Given the description of an element on the screen output the (x, y) to click on. 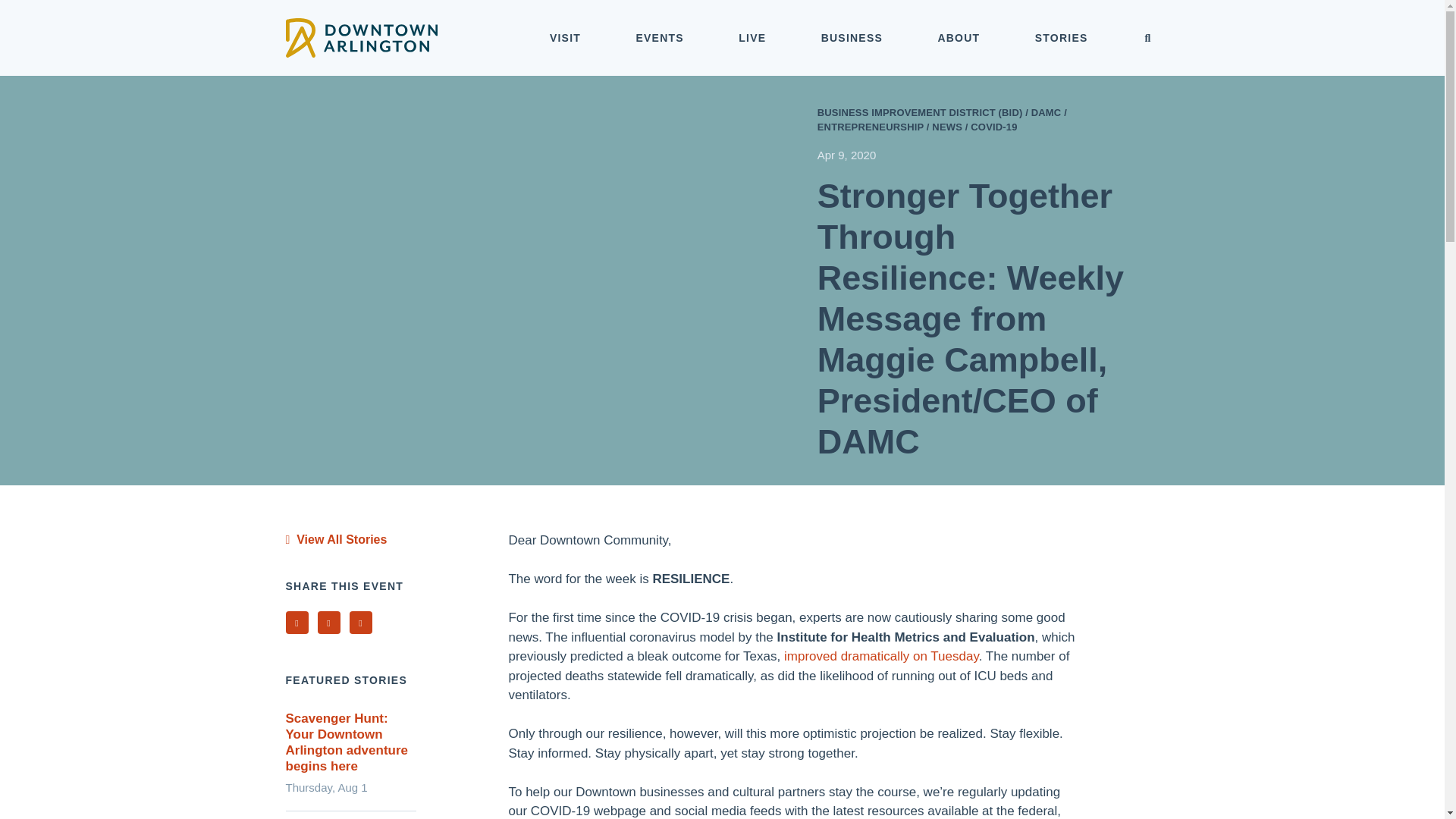
EVENTS (659, 38)
ABOUT (958, 38)
VISIT (565, 38)
BUSINESS (851, 38)
LIVE (752, 38)
